Given the description of an element on the screen output the (x, y) to click on. 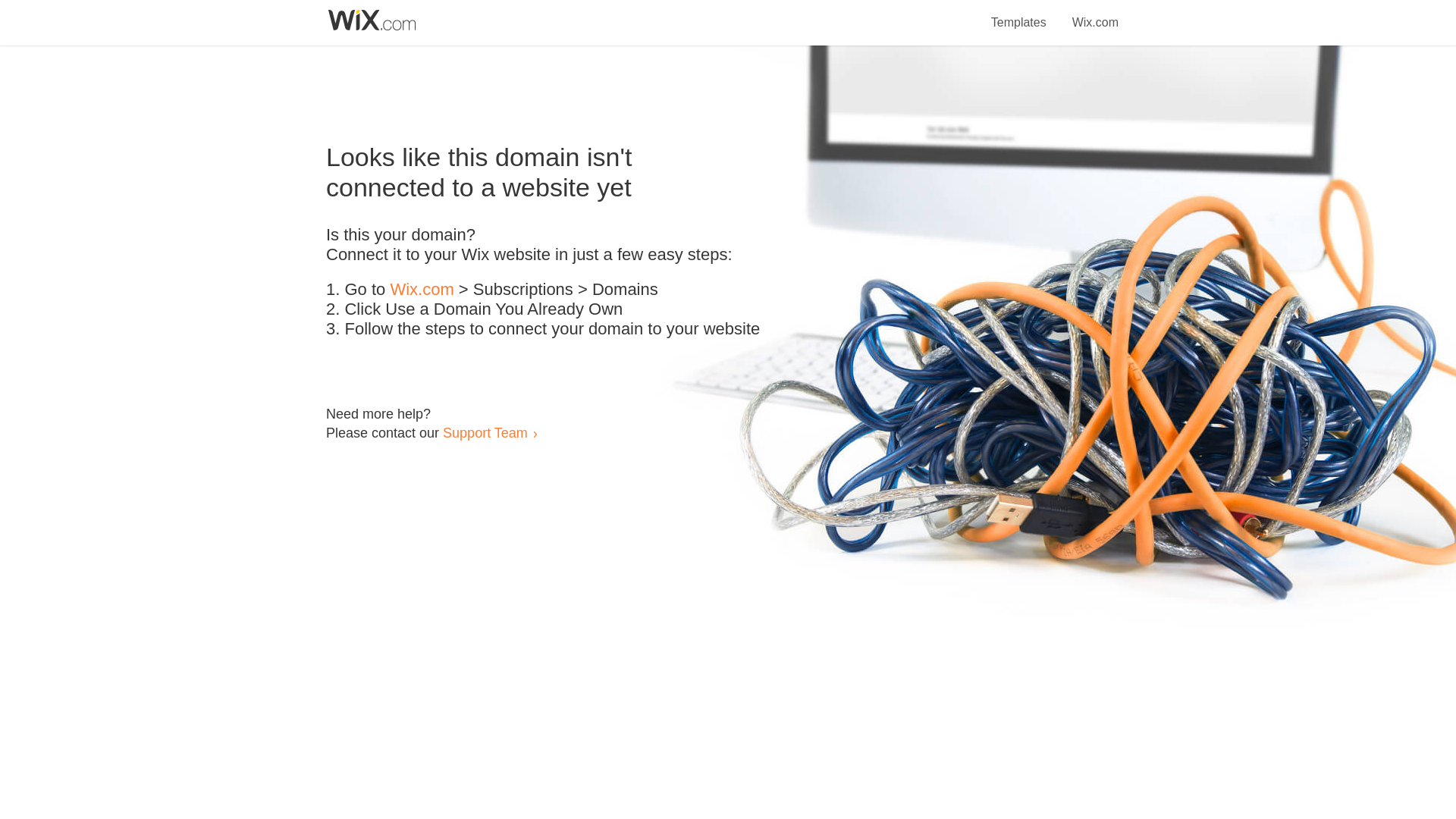
Wix.com (421, 289)
Support Team (484, 432)
Wix.com (1095, 14)
Templates (1018, 14)
